Given the description of an element on the screen output the (x, y) to click on. 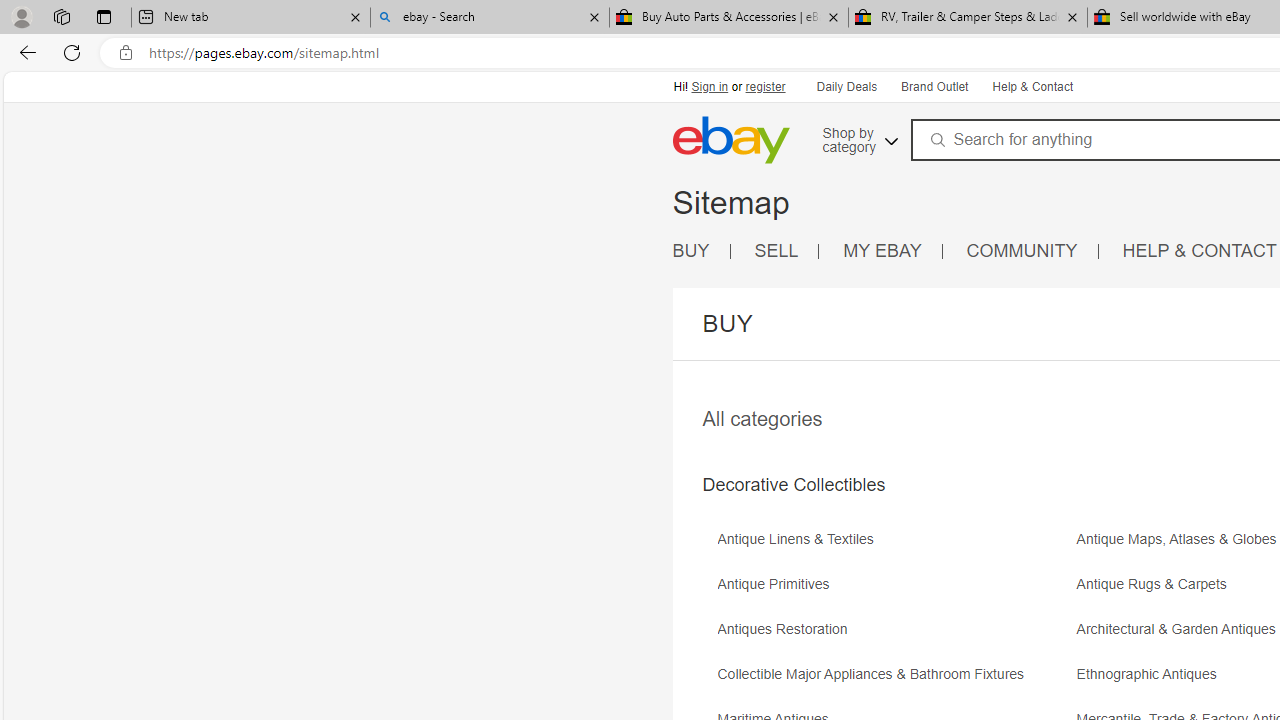
Refresh (72, 52)
MY EBAY (882, 250)
Close tab (1072, 16)
HELP & CONTACT (1199, 250)
HELP & CONTACT (1199, 251)
Antique Rugs & Carpets (1156, 583)
COMMUNITY (1032, 251)
Help & Contact (1032, 88)
BUY (691, 250)
eBay Logo (730, 139)
Ethnographic Antiques (1151, 673)
Daily Deals (847, 88)
Sign in (710, 86)
New tab (250, 17)
ebay - Search (490, 17)
